Given the description of an element on the screen output the (x, y) to click on. 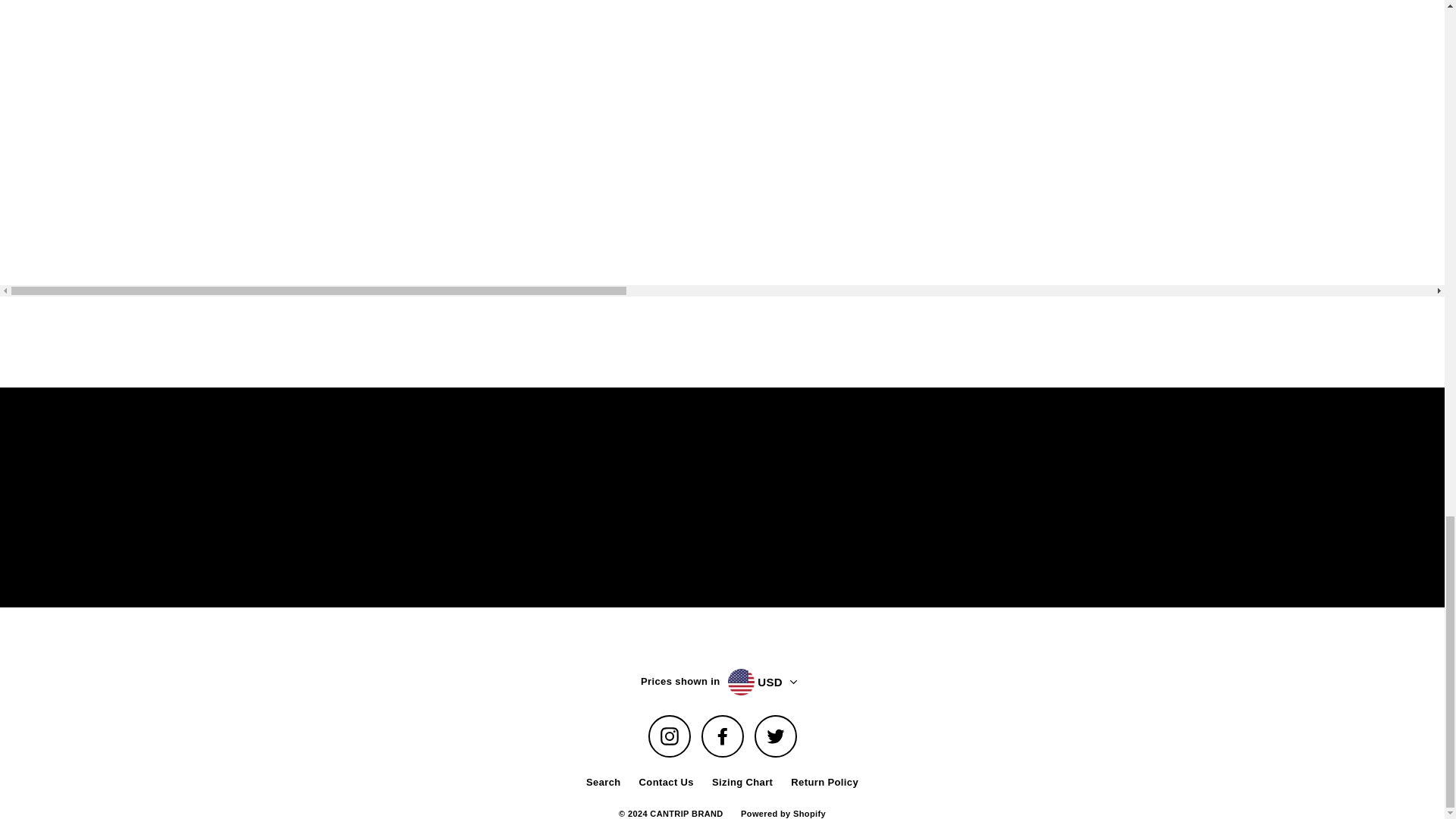
CANTRIP BRAND on Twitter (775, 735)
CANTRIP BRAND on Facebook (721, 735)
CANTRIP BRAND on Instagram (668, 735)
